Given the description of an element on the screen output the (x, y) to click on. 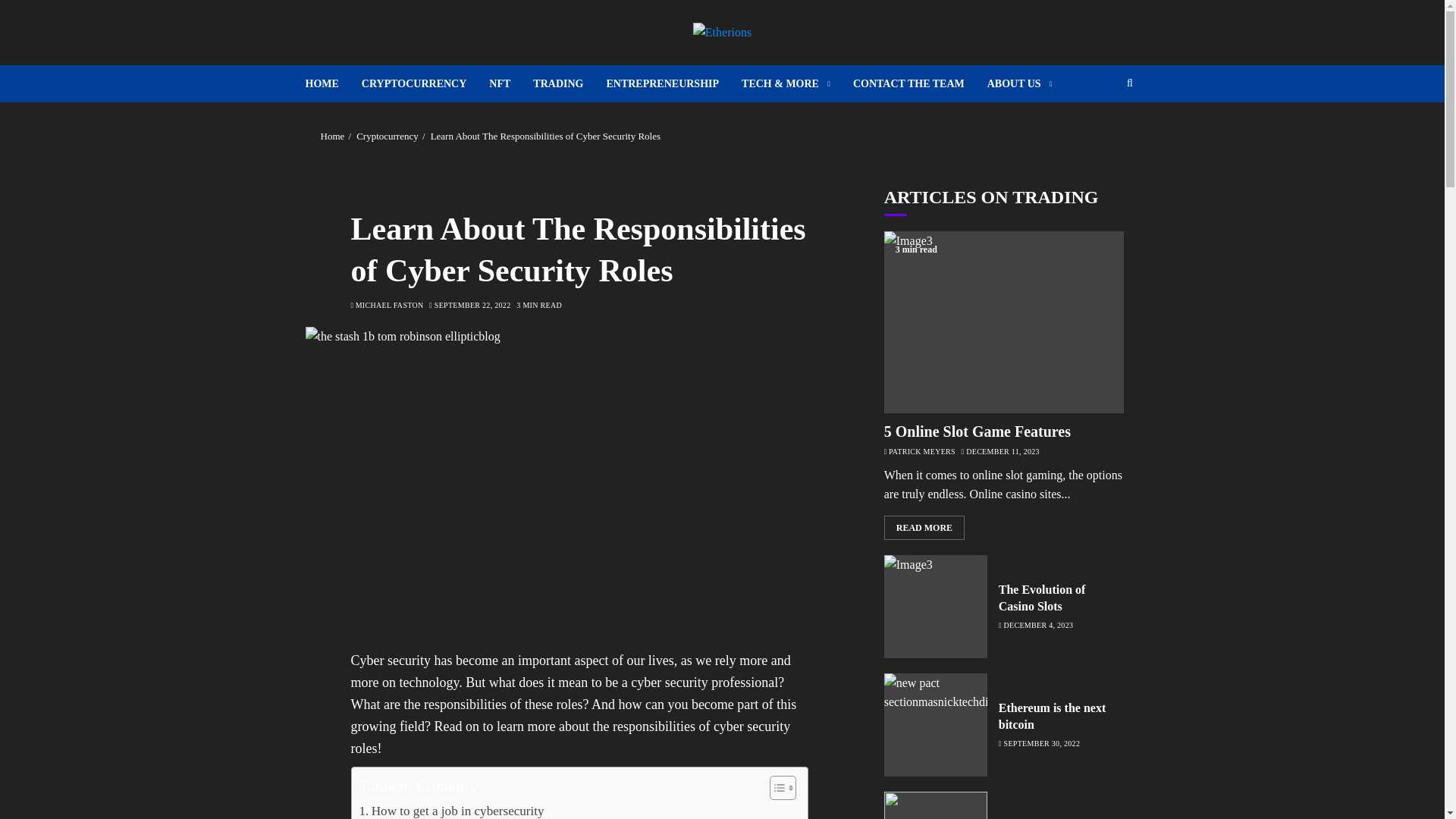
Cryptocurrency (387, 136)
SEPTEMBER 22, 2022 (472, 305)
Learn About The Responsibilities of Cyber Security Roles (545, 136)
TRADING (568, 83)
ABOUT US (1019, 83)
CRYPTOCURRENCY (425, 83)
NFT (510, 83)
CONTACT THE TEAM (920, 83)
MICHAEL FASTON (389, 305)
5 Online Slot Game Features (976, 431)
